Given the description of an element on the screen output the (x, y) to click on. 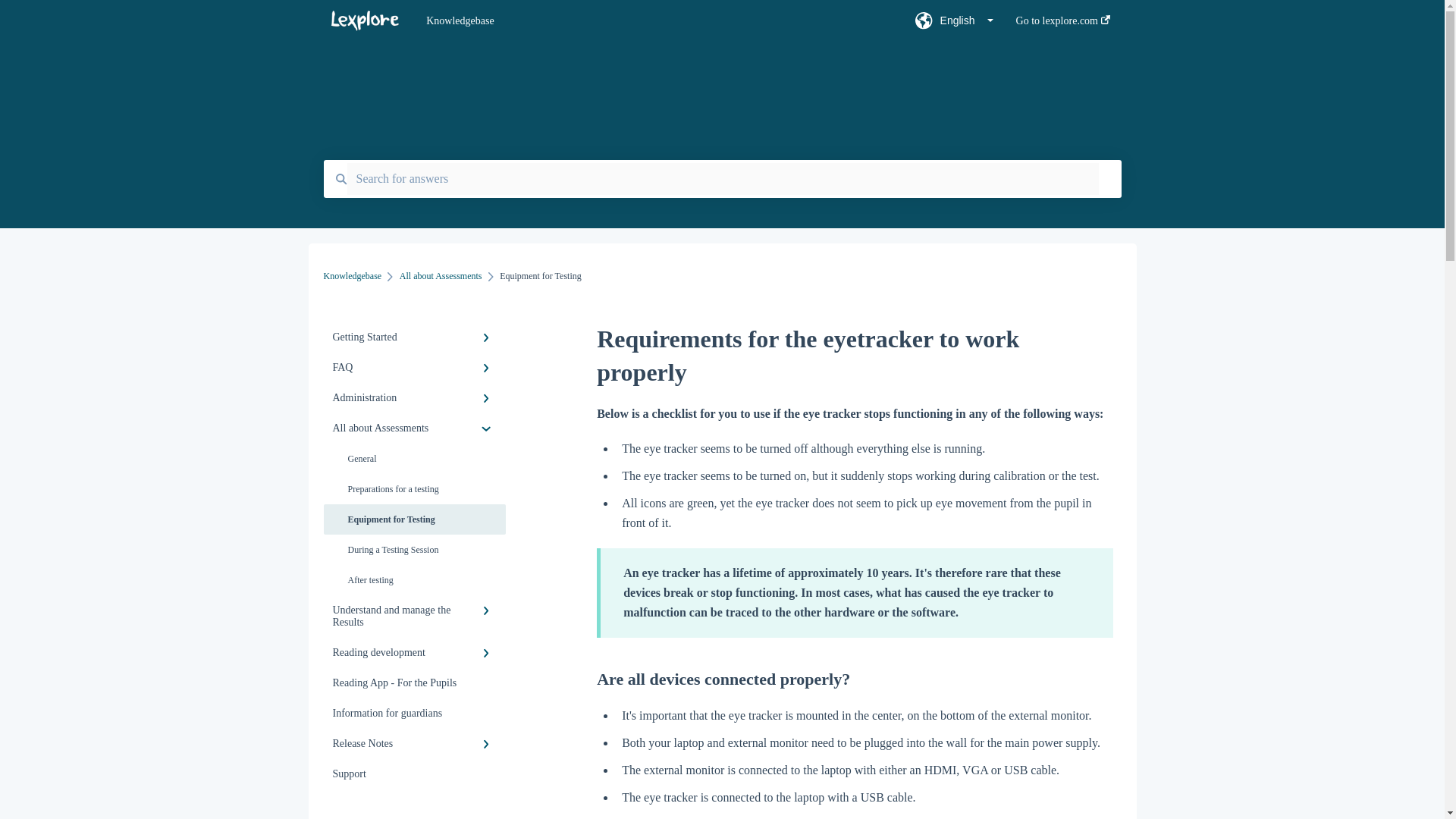
Knowledgebase (647, 21)
Go to lexplore.com (1062, 25)
English (953, 25)
